Given the description of an element on the screen output the (x, y) to click on. 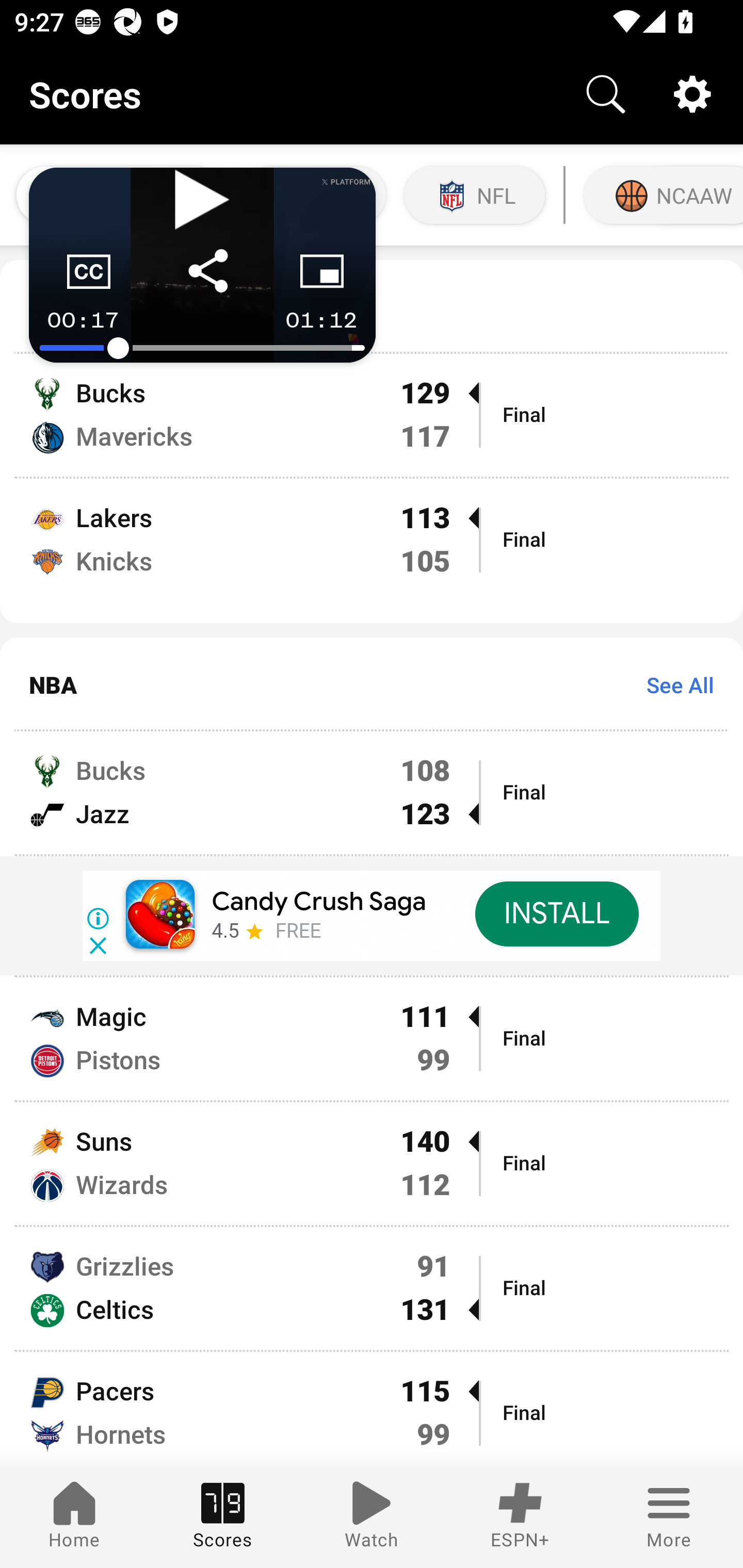
Search (605, 93)
Settings (692, 93)
NFL (474, 194)
NCAAW (661, 194)
Bucks 129  Mavericks 117 Final (371, 415)
Lakers 113  Knicks 105 Final (371, 550)
NBA See All (371, 684)
See All (673, 684)
Bucks 108 Jazz 123  Final (371, 792)
INSTALL (556, 914)
Candy Crush Saga (318, 901)
Magic 111  Pistons 99 Final (371, 1038)
Suns 140  Wizards 112 Final (371, 1163)
Grizzlies 91 Celtics 131  Final (371, 1288)
Pacers 115  Hornets 99 Final (371, 1409)
Home (74, 1517)
Watch (371, 1517)
ESPN+ (519, 1517)
More (668, 1517)
